Given the description of an element on the screen output the (x, y) to click on. 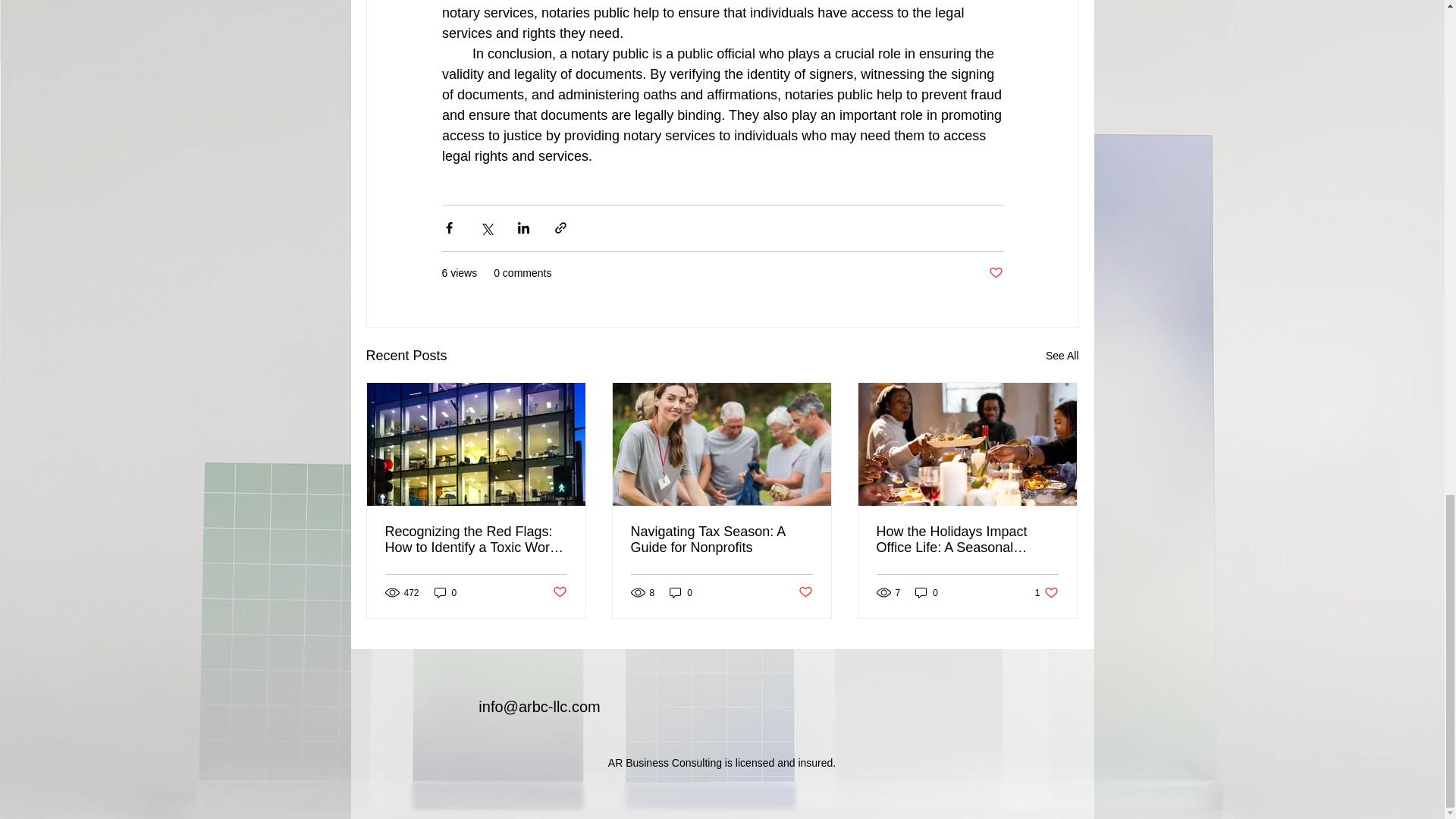
0 (1046, 592)
0 (926, 592)
Post not marked as liked (681, 592)
Post not marked as liked (804, 592)
How the Holidays Impact Office Life: A Seasonal Reflection (995, 273)
0 (967, 540)
Navigating Tax Season: A Guide for Nonprofits (445, 592)
Post not marked as liked (721, 540)
See All (558, 592)
